Given the description of an element on the screen output the (x, y) to click on. 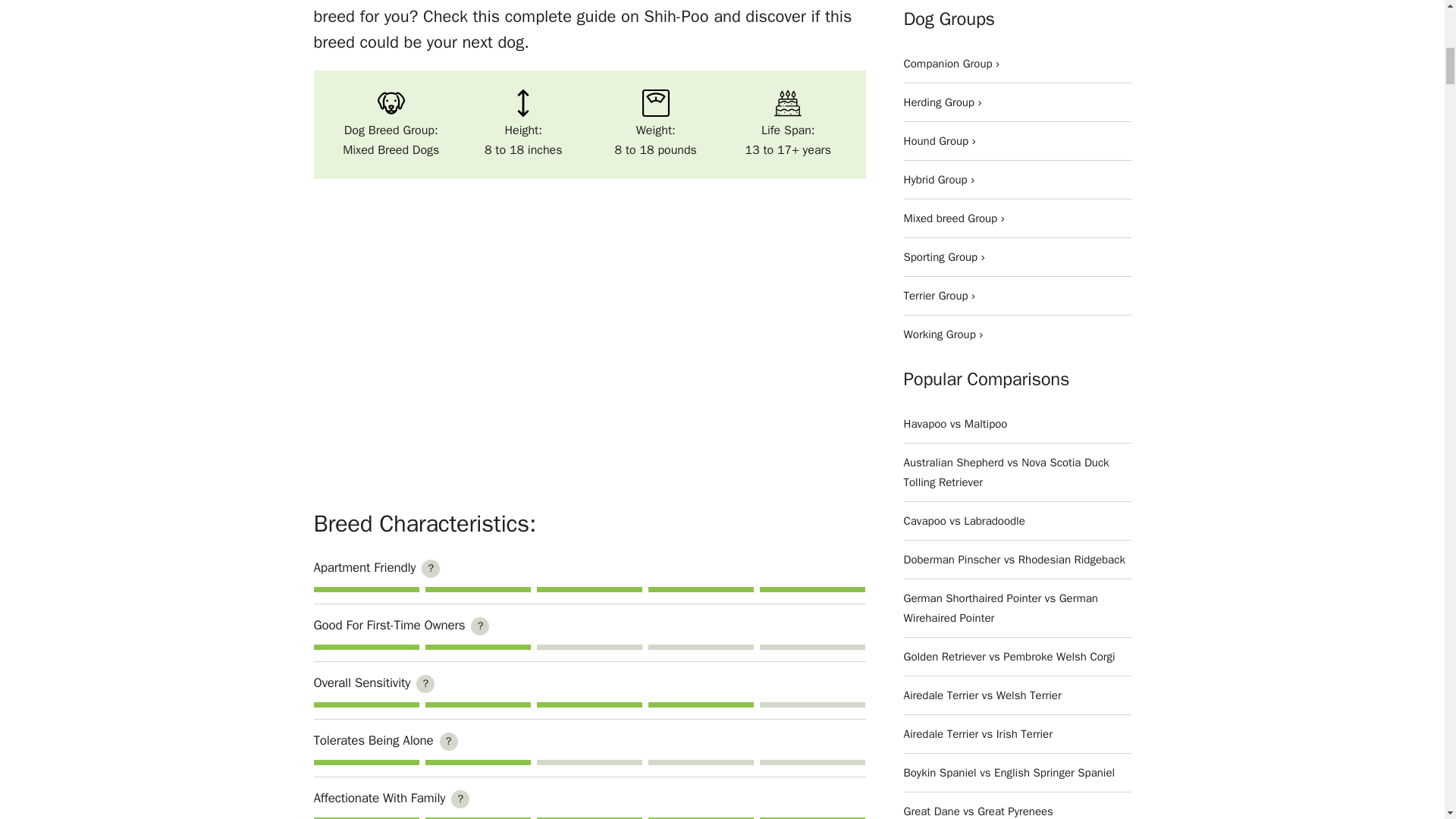
? (479, 626)
? (448, 741)
? (459, 799)
? (430, 568)
? (424, 683)
